Given the description of an element on the screen output the (x, y) to click on. 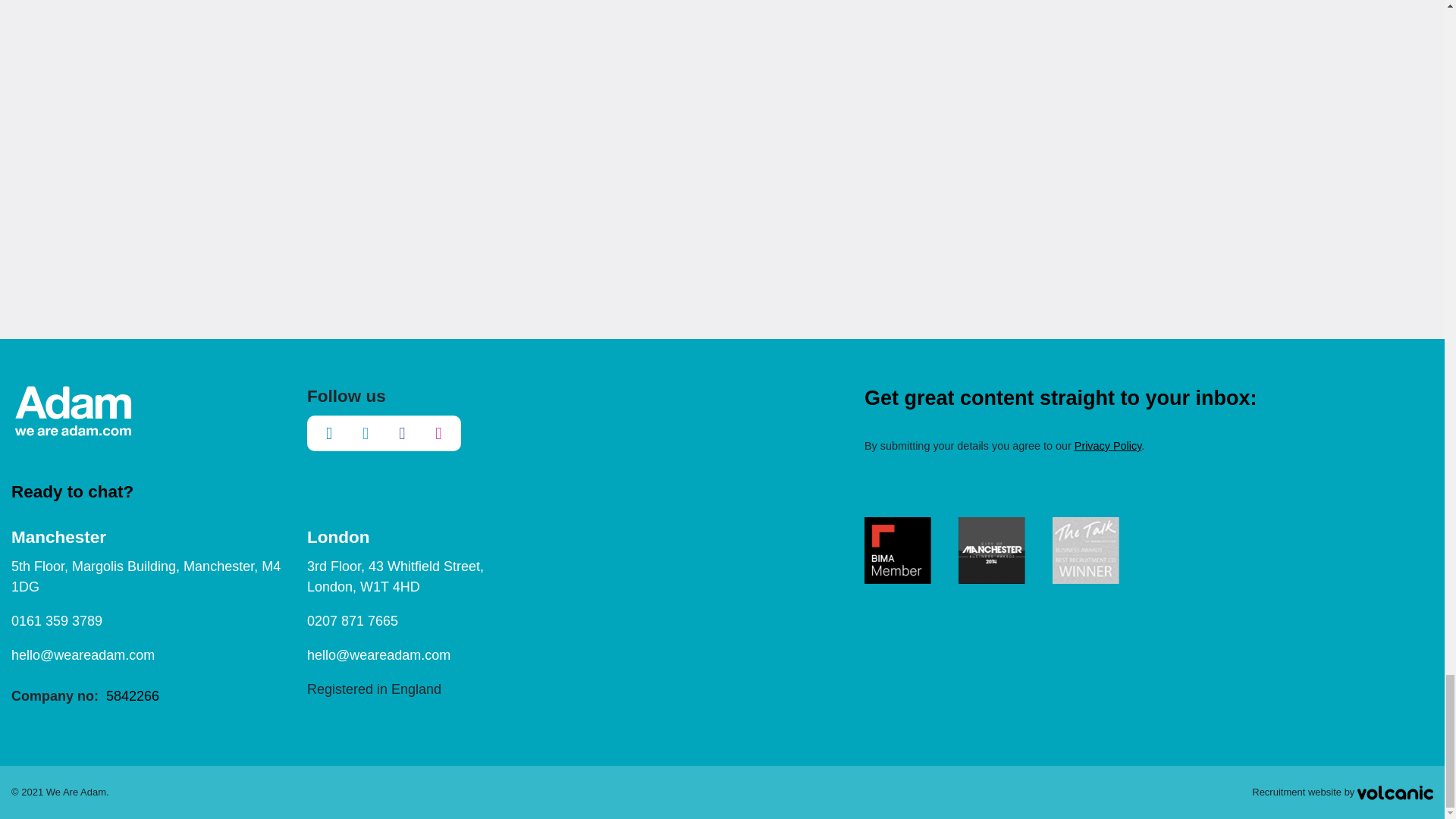
Call with CircleLoop (352, 620)
Go to the Homepage (73, 409)
Volcanic (1394, 792)
Call with CircleLoop (56, 620)
